Given the description of an element on the screen output the (x, y) to click on. 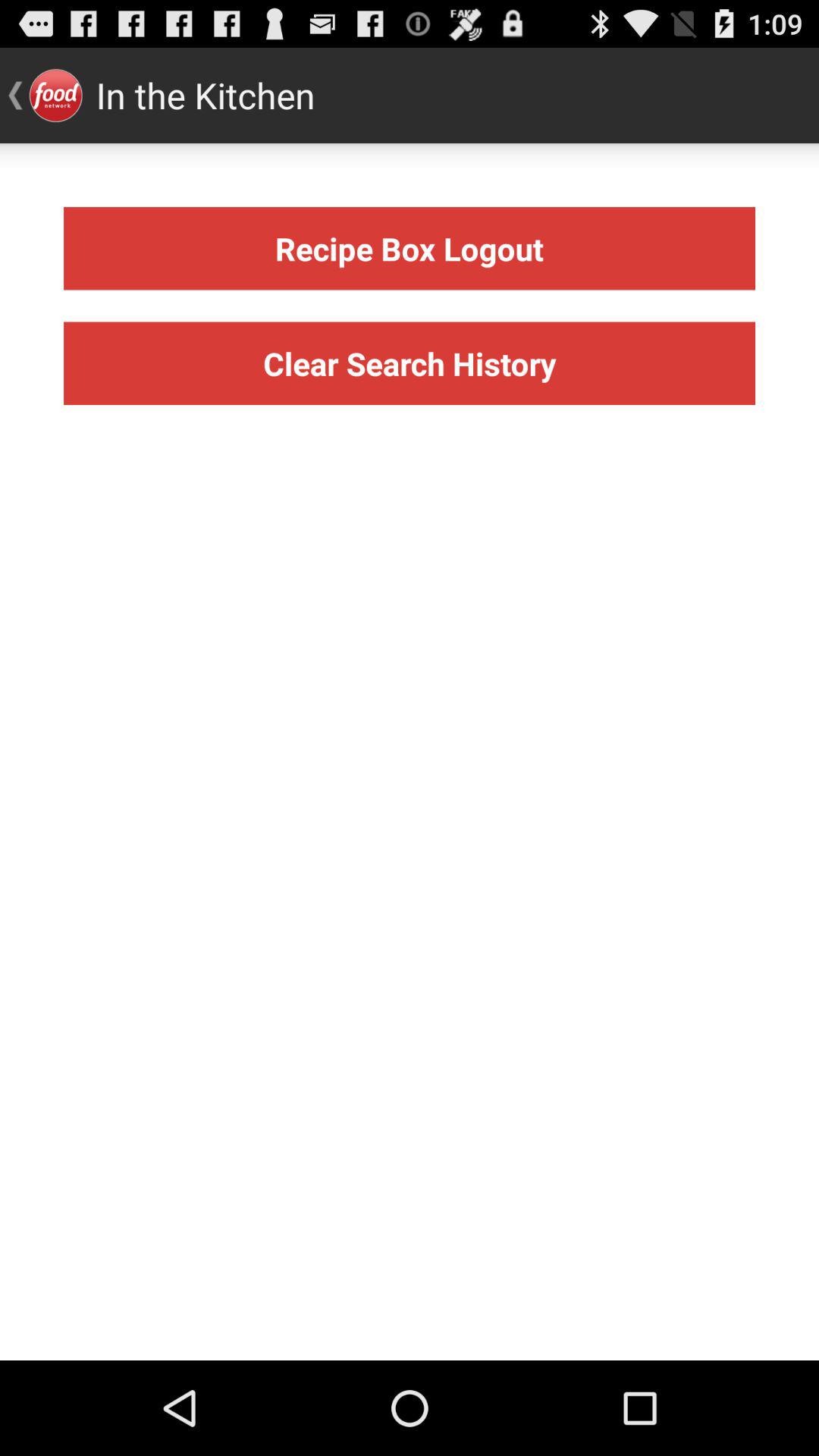
choose the clear search history icon (409, 362)
